Given the description of an element on the screen output the (x, y) to click on. 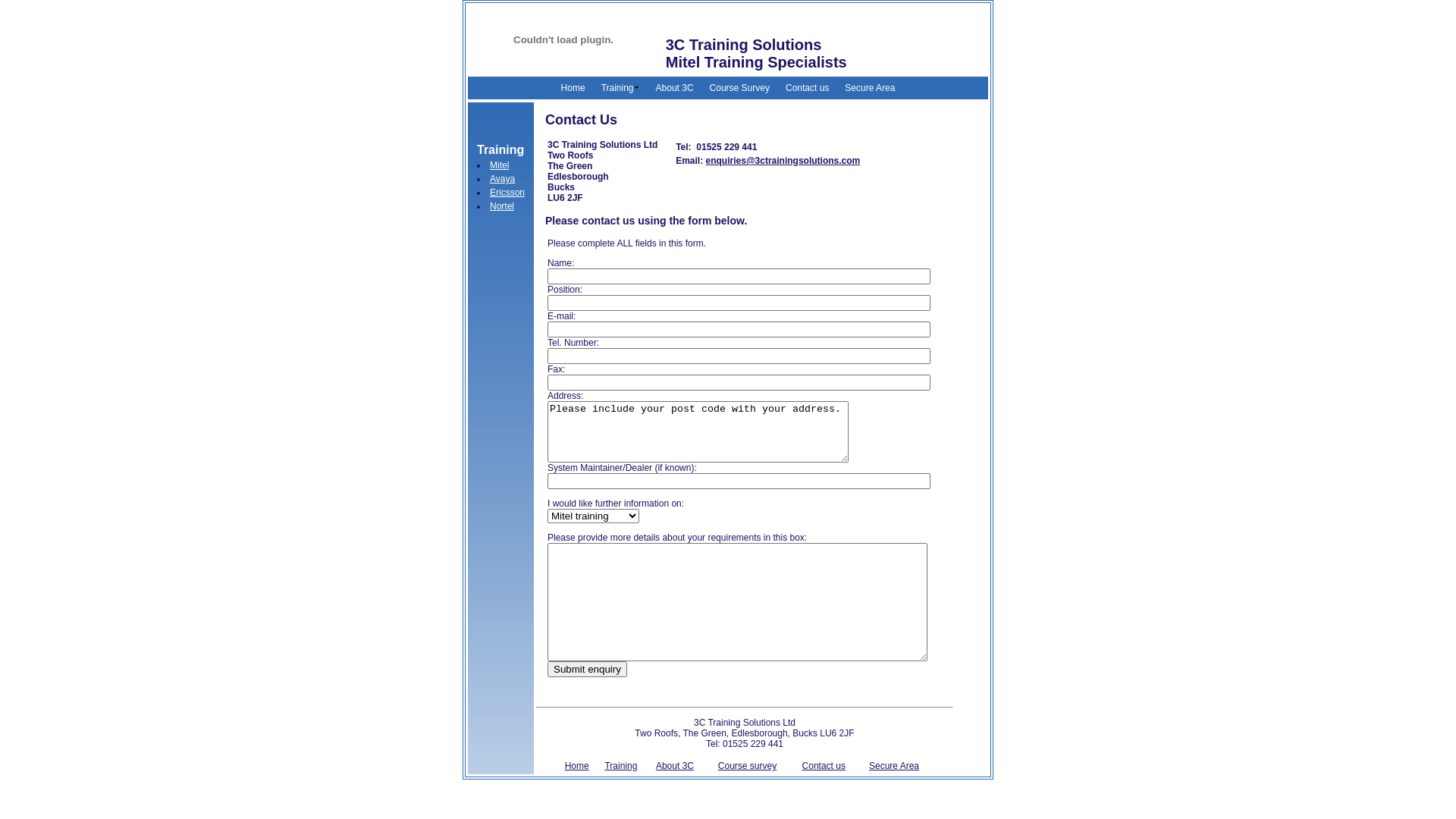
Secure Area Element type: text (894, 765)
Course Survey Element type: text (739, 87)
Mitel Element type: text (498, 165)
Avaya Element type: text (501, 178)
Contact us Element type: text (806, 87)
Secure Area Element type: text (869, 87)
Submit enquiry Element type: text (587, 669)
Home Element type: text (573, 87)
Ericsson Element type: text (506, 192)
Contact us Element type: text (823, 765)
Nortel Element type: text (501, 205)
Training Element type: text (620, 87)
Training Element type: text (620, 765)
enquiries@3ctrainingsolutions.com Element type: text (783, 160)
Course survey Element type: text (747, 765)
Home Element type: text (576, 765)
About 3C Element type: text (674, 765)
About 3C Element type: text (674, 87)
